Given the description of an element on the screen output the (x, y) to click on. 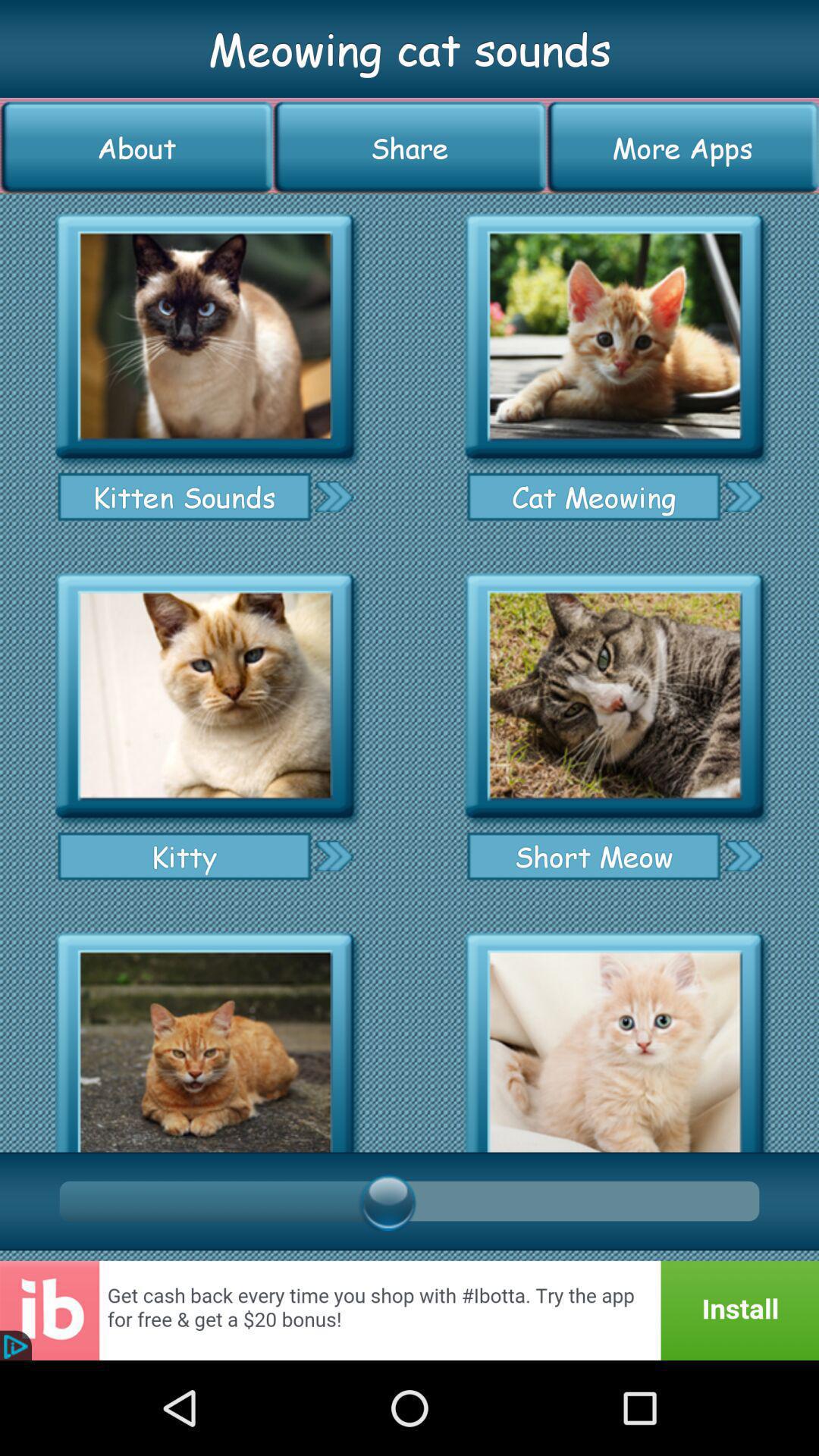
go to next (333, 855)
